Given the description of an element on the screen output the (x, y) to click on. 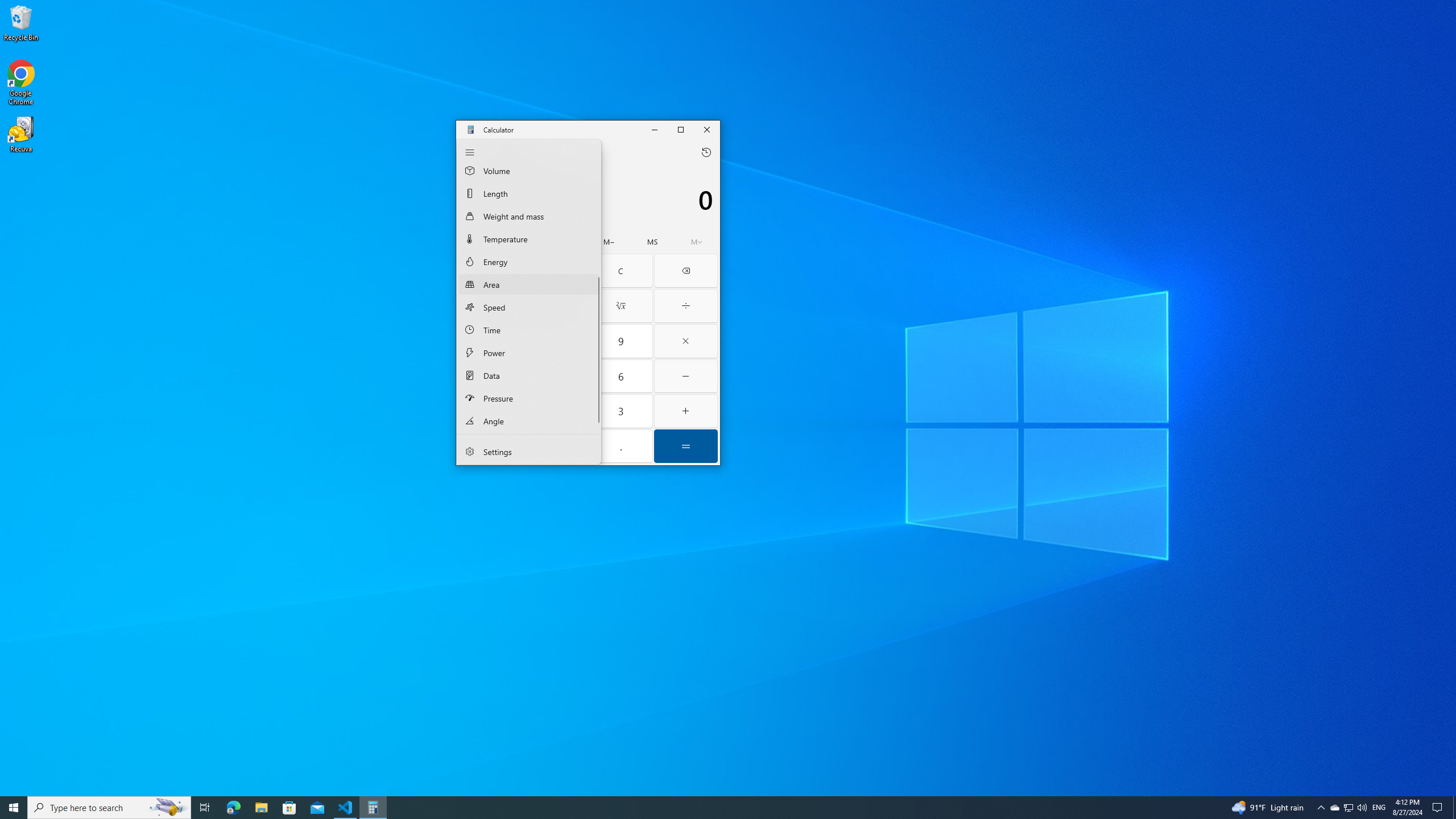
Zero (556, 445)
Close Navigation (469, 152)
Positive negative (490, 445)
Pressure Converter (528, 398)
Open history flyout (705, 152)
Six (620, 376)
Weight and mass Converter (528, 215)
Minimize Calculator (655, 129)
Action Center, No new notifications (1439, 807)
Show desktop (1454, 807)
Maximize Calculator (681, 129)
Task View (204, 807)
Start (13, 807)
